Given the description of an element on the screen output the (x, y) to click on. 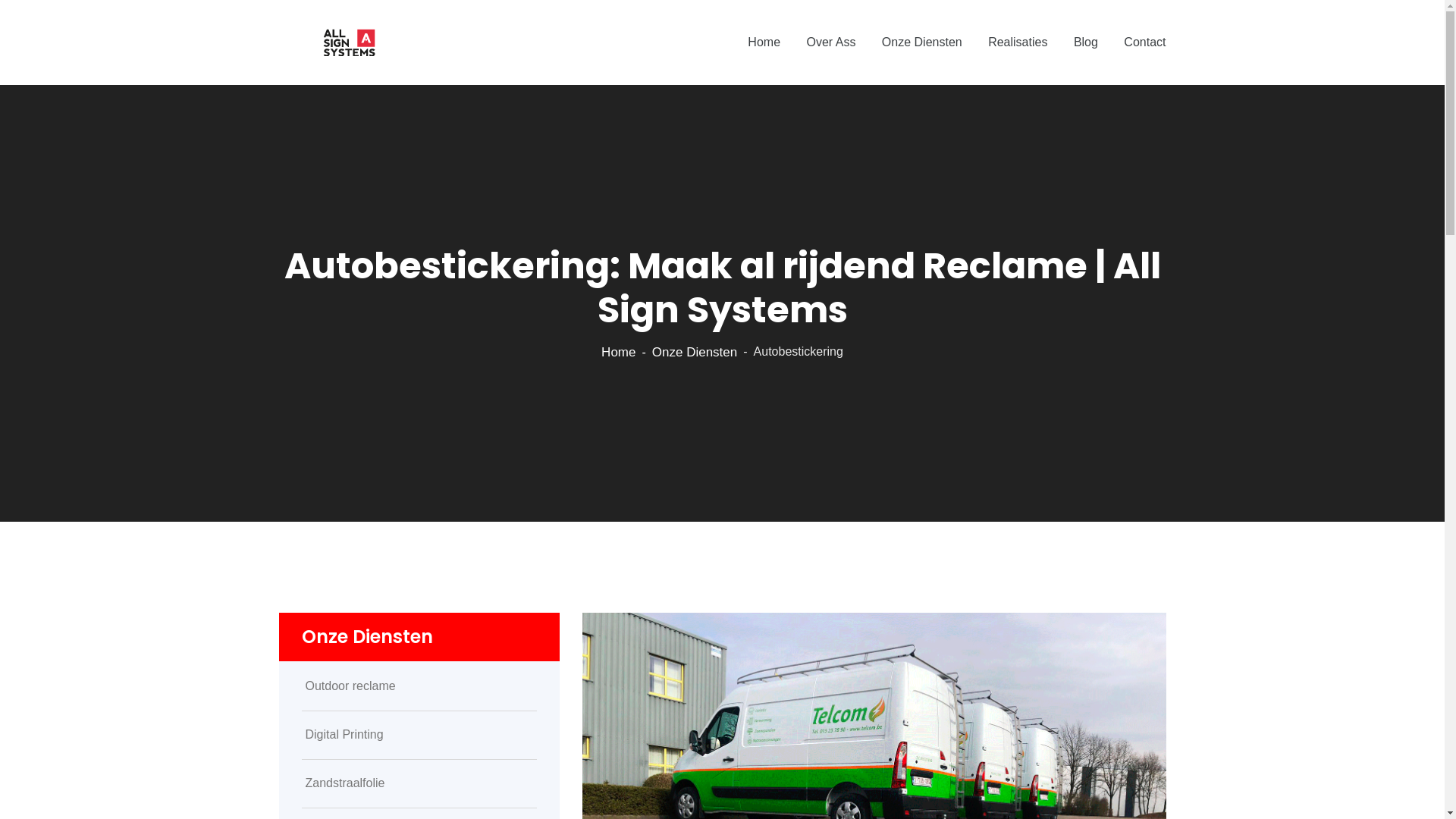
Contact Element type: text (1144, 42)
Home Element type: text (618, 352)
Over Ass Element type: text (831, 42)
Onze Diensten Element type: text (694, 352)
Zandstraalfolie Element type: text (418, 783)
Realisaties Element type: text (1017, 42)
Home Element type: text (763, 42)
Outdoor reclame Element type: text (418, 686)
Digital Printing Element type: text (418, 734)
Onze Diensten Element type: text (921, 42)
Blog Element type: text (1085, 42)
